Given the description of an element on the screen output the (x, y) to click on. 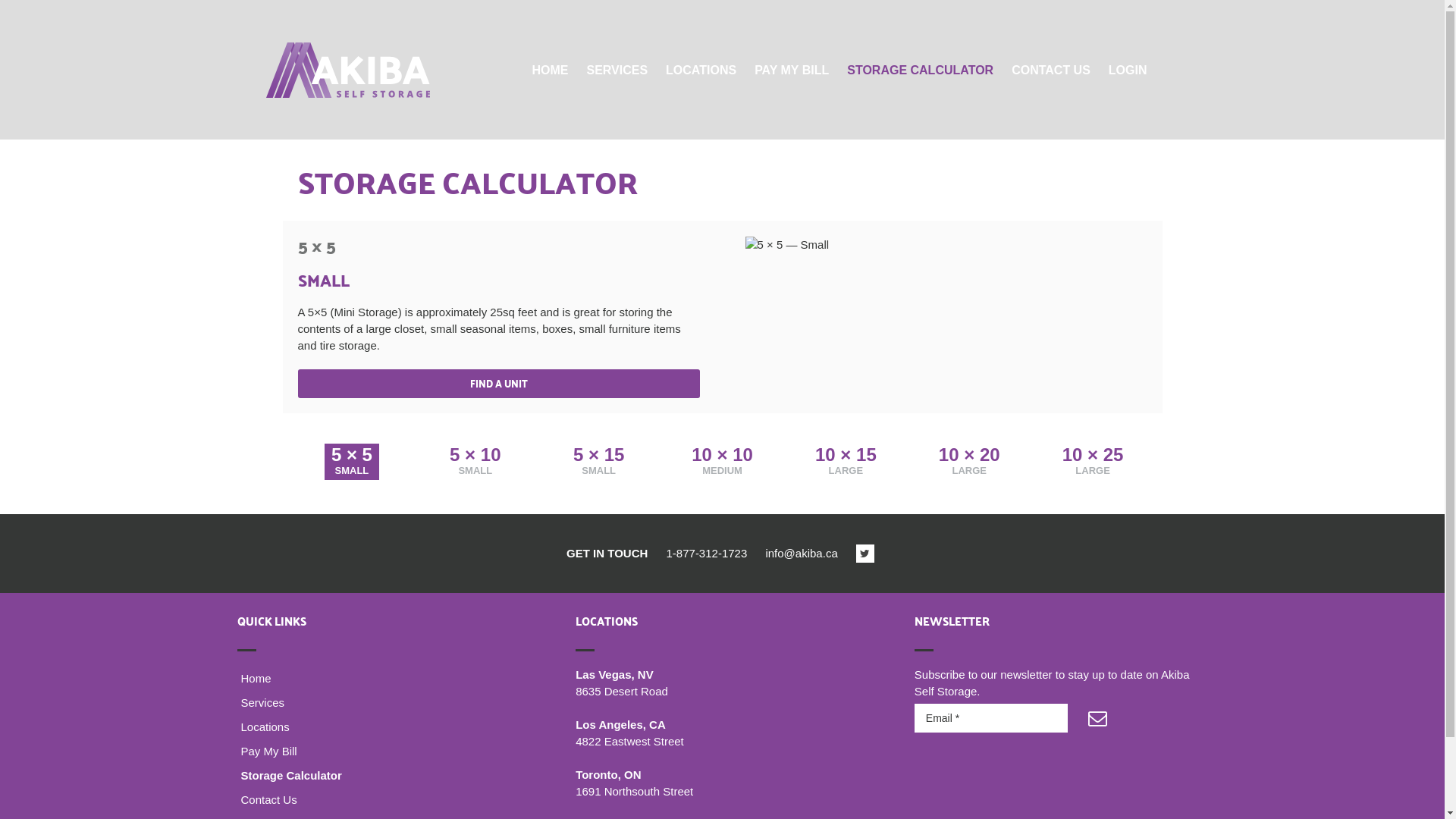
PAY MY BILL Element type: text (791, 70)
STORAGE CALCULATOR Element type: text (920, 70)
FIND A UNIT Element type: text (498, 383)
Services Element type: text (383, 702)
CONTACT US Element type: text (1050, 70)
LOCATIONS Element type: text (700, 70)
HOME Element type: text (549, 70)
Contact Us Element type: text (383, 799)
Pay My Bill Element type: text (383, 751)
LOGIN Element type: text (1127, 70)
Storage Calculator Element type: text (383, 775)
Locations Element type: text (383, 727)
Home Element type: text (383, 678)
SERVICES Element type: text (616, 70)
info@akiba.ca Element type: text (801, 552)
